Given the description of an element on the screen output the (x, y) to click on. 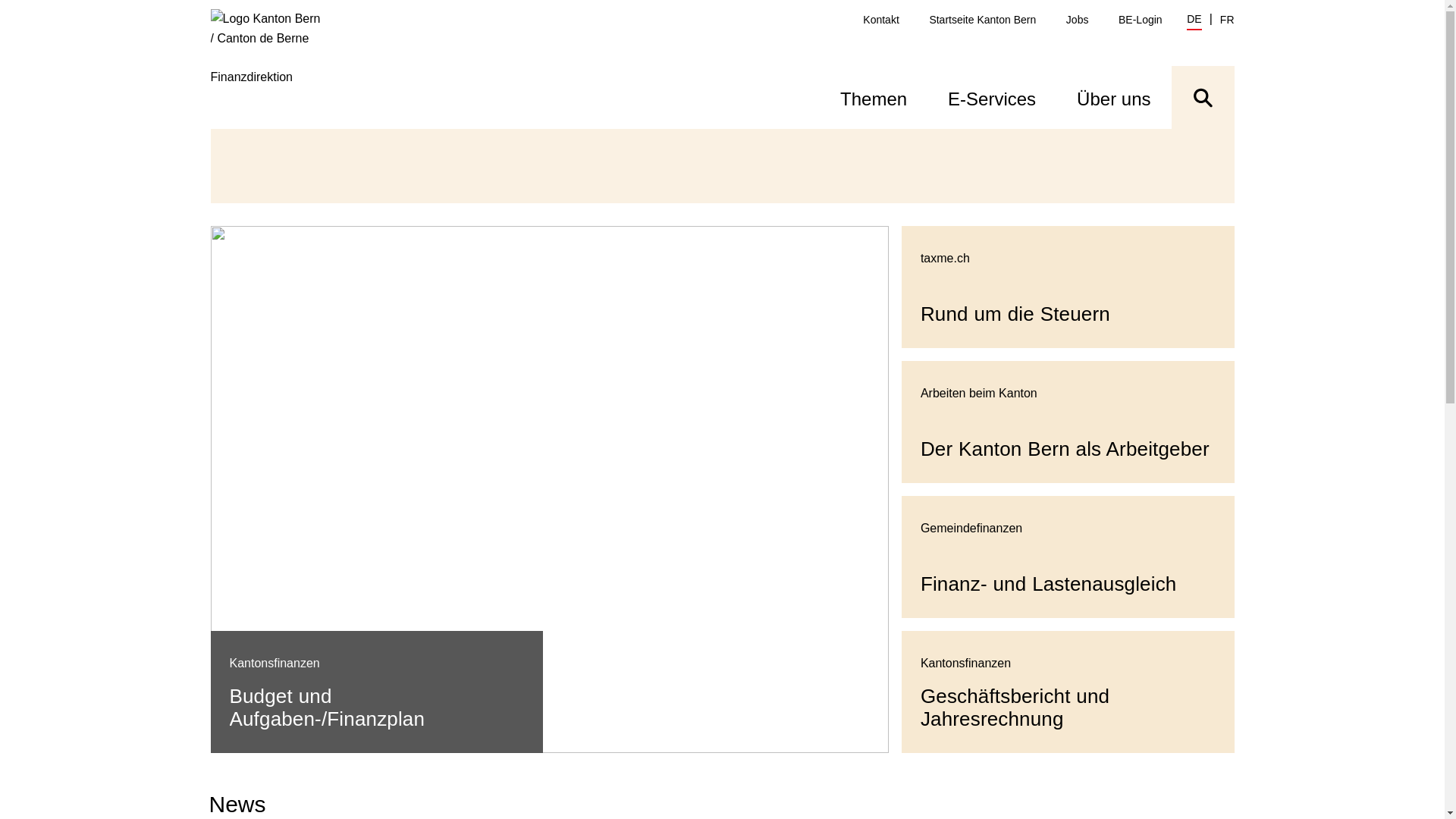
E-Services Element type: text (991, 96)
Finanz- und Lastenausgleich
Gemeindefinanzen Element type: text (1067, 556)
Kontakt Element type: text (880, 19)
Der Kanton Bern als Arbeitgeber
Arbeiten beim Kanton Element type: text (1067, 421)
DE Element type: text (1193, 21)
FR Element type: text (1227, 19)
BE-Login Element type: text (1140, 19)
Finanzdirektion Element type: text (275, 68)
Suche ein- oder ausblenden Element type: text (1201, 96)
Startseite Kanton Bern Element type: text (981, 19)
Rund um die Steuern
taxme.ch Element type: text (1067, 286)
Jobs Element type: text (1077, 19)
Budget und Aufgaben-/Finanzplan
Kantonsfinanzen Element type: text (549, 489)
Themen Element type: text (873, 96)
